Given the description of an element on the screen output the (x, y) to click on. 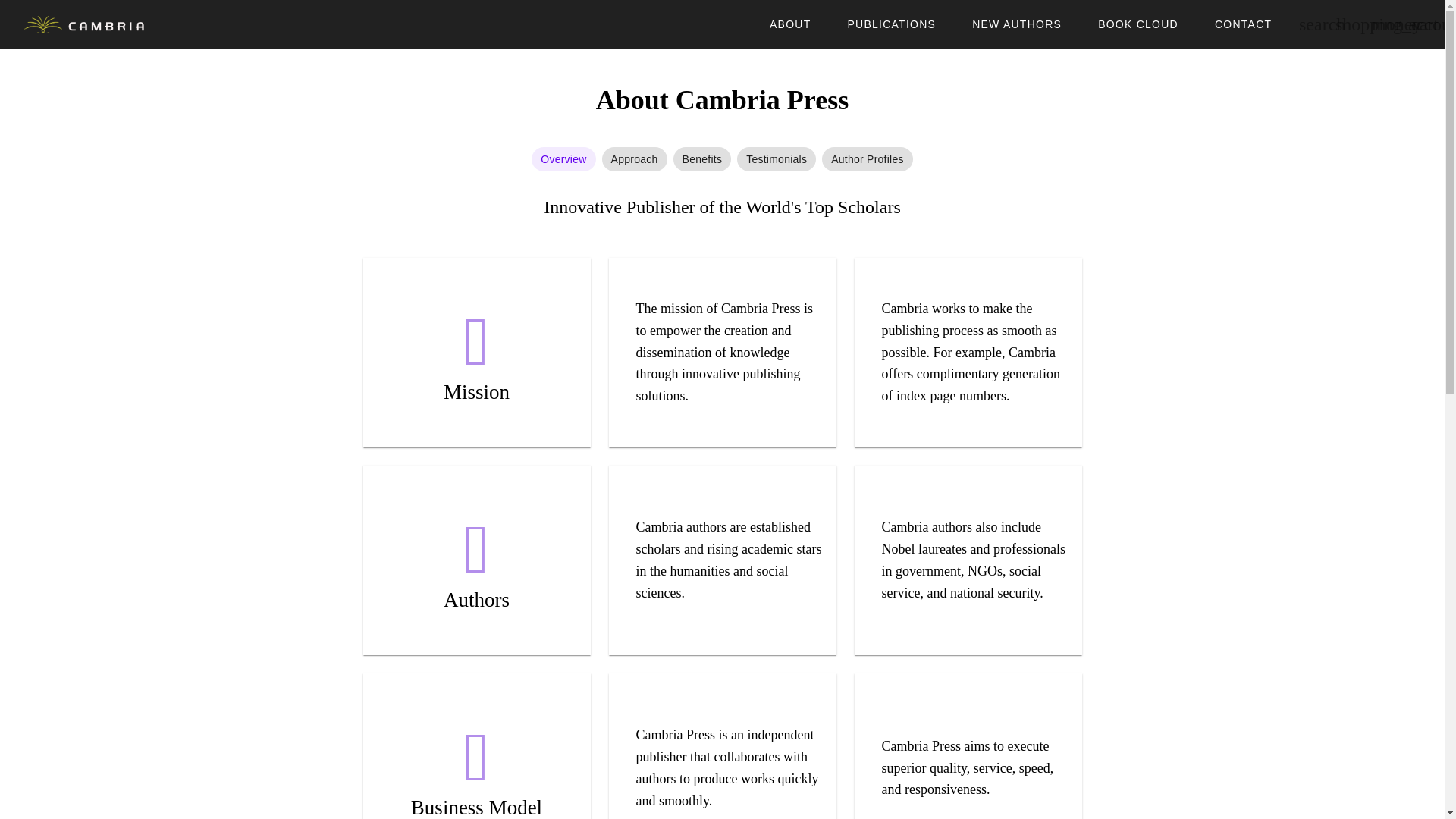
NEW AUTHORS (1016, 23)
BOOK CLOUD (1138, 23)
search (1308, 23)
ABOUT (789, 23)
CONTACT (1243, 23)
PUBLICATIONS (890, 23)
Authors (475, 560)
money (1380, 23)
Approach (633, 159)
